Given the description of an element on the screen output the (x, y) to click on. 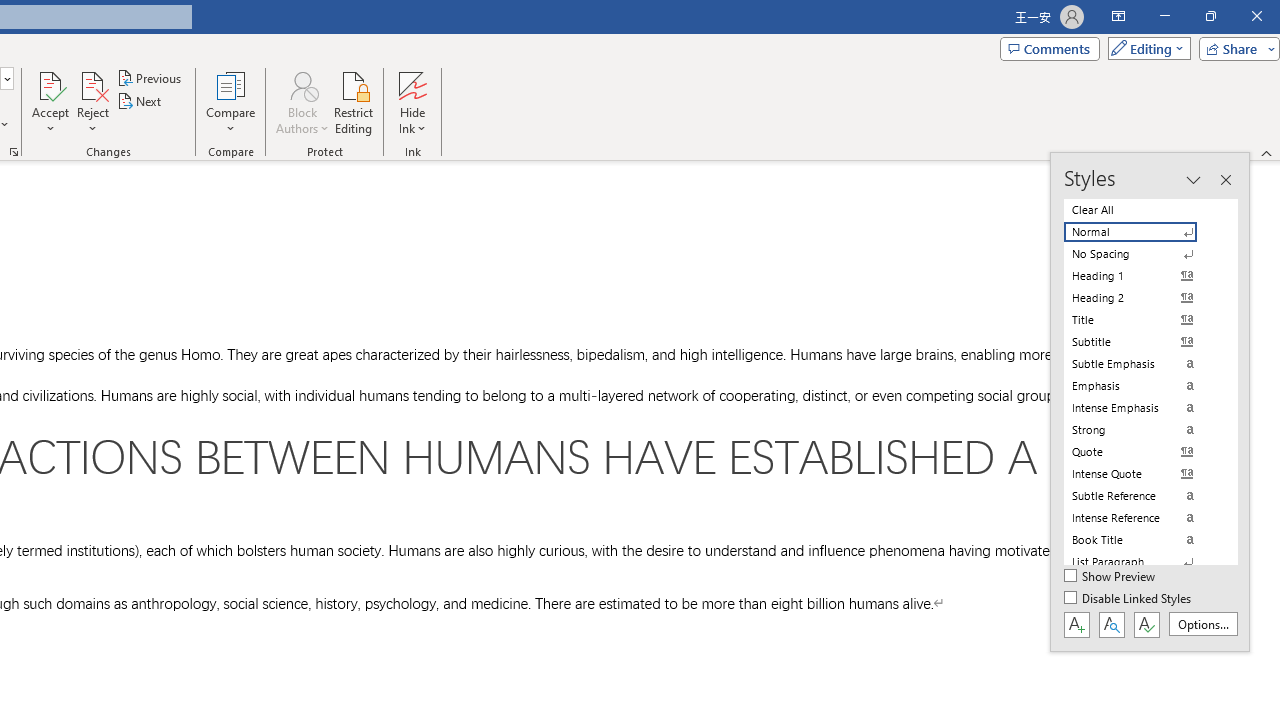
Subtle Reference (1142, 495)
Disable Linked Styles (1129, 599)
Hide Ink (412, 84)
Hide Ink (412, 102)
Intense Reference (1142, 517)
Previous (150, 78)
Strong (1142, 429)
Restrict Editing (353, 102)
Emphasis (1142, 385)
